Given the description of an element on the screen output the (x, y) to click on. 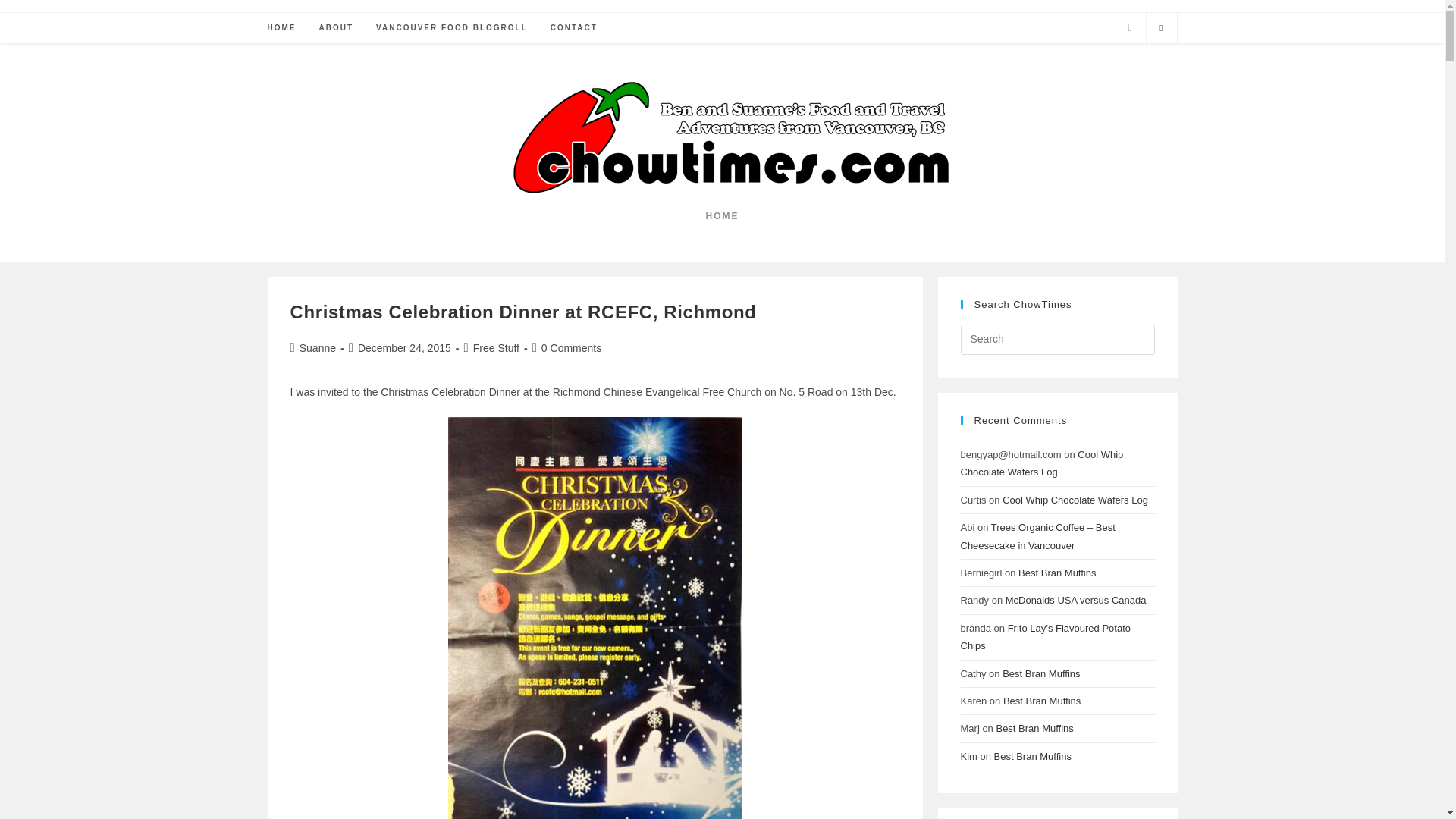
Free Stuff (496, 347)
ABOUT (336, 28)
0 Comments (571, 347)
HOME (281, 28)
CONTACT (573, 28)
Christmas Celebration Dinner at RCEFC, Richmond (522, 312)
VANCOUVER FOOD BLOGROLL (451, 28)
Posts by Suanne (317, 347)
Suanne (317, 347)
